Given the description of an element on the screen output the (x, y) to click on. 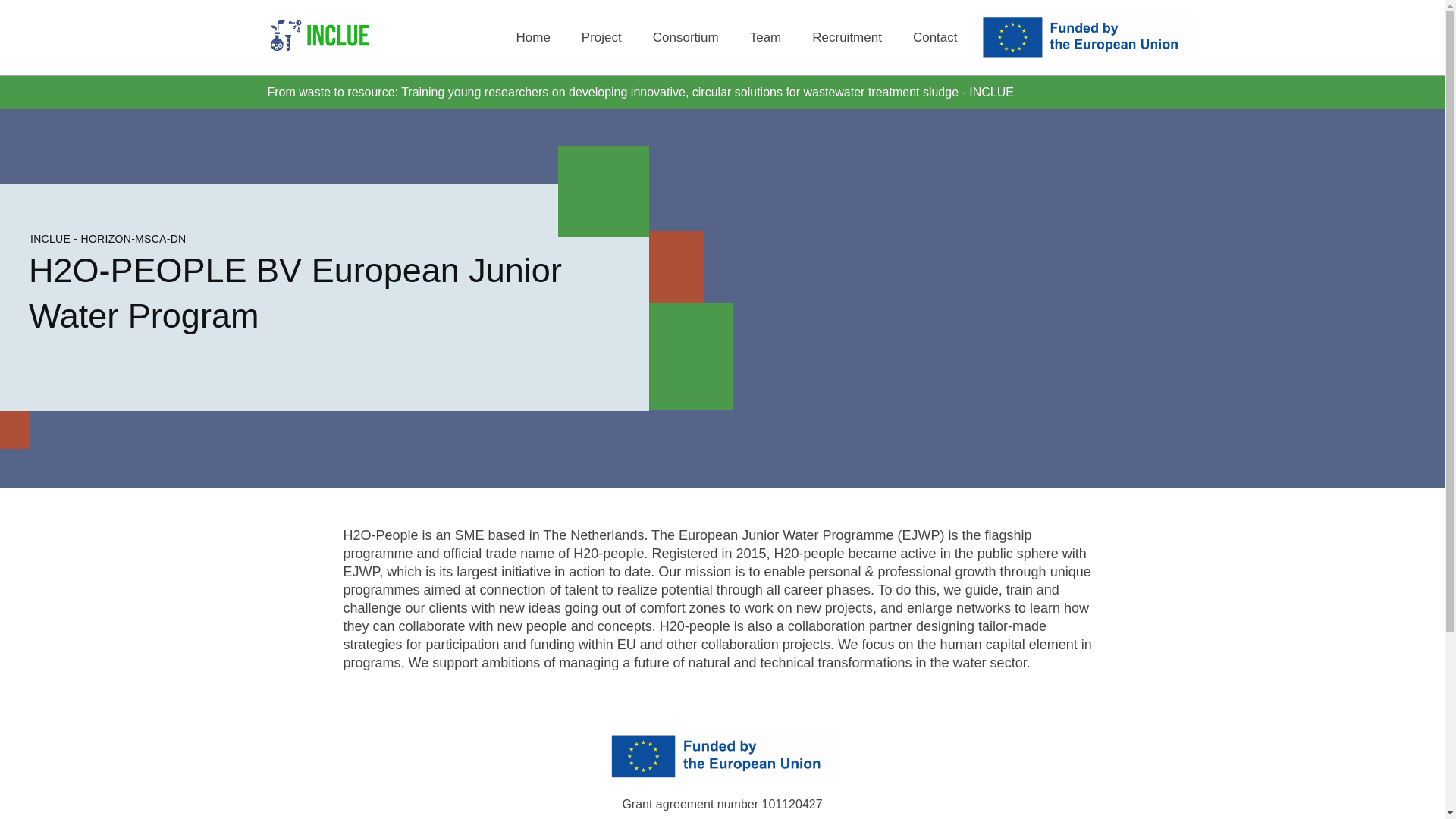
Home (532, 37)
Consortium (685, 37)
Team (765, 37)
INCLUE - HORIZON-MSCA-DN (108, 238)
Contact (935, 37)
Project (600, 37)
Recruitment (847, 37)
